Given the description of an element on the screen output the (x, y) to click on. 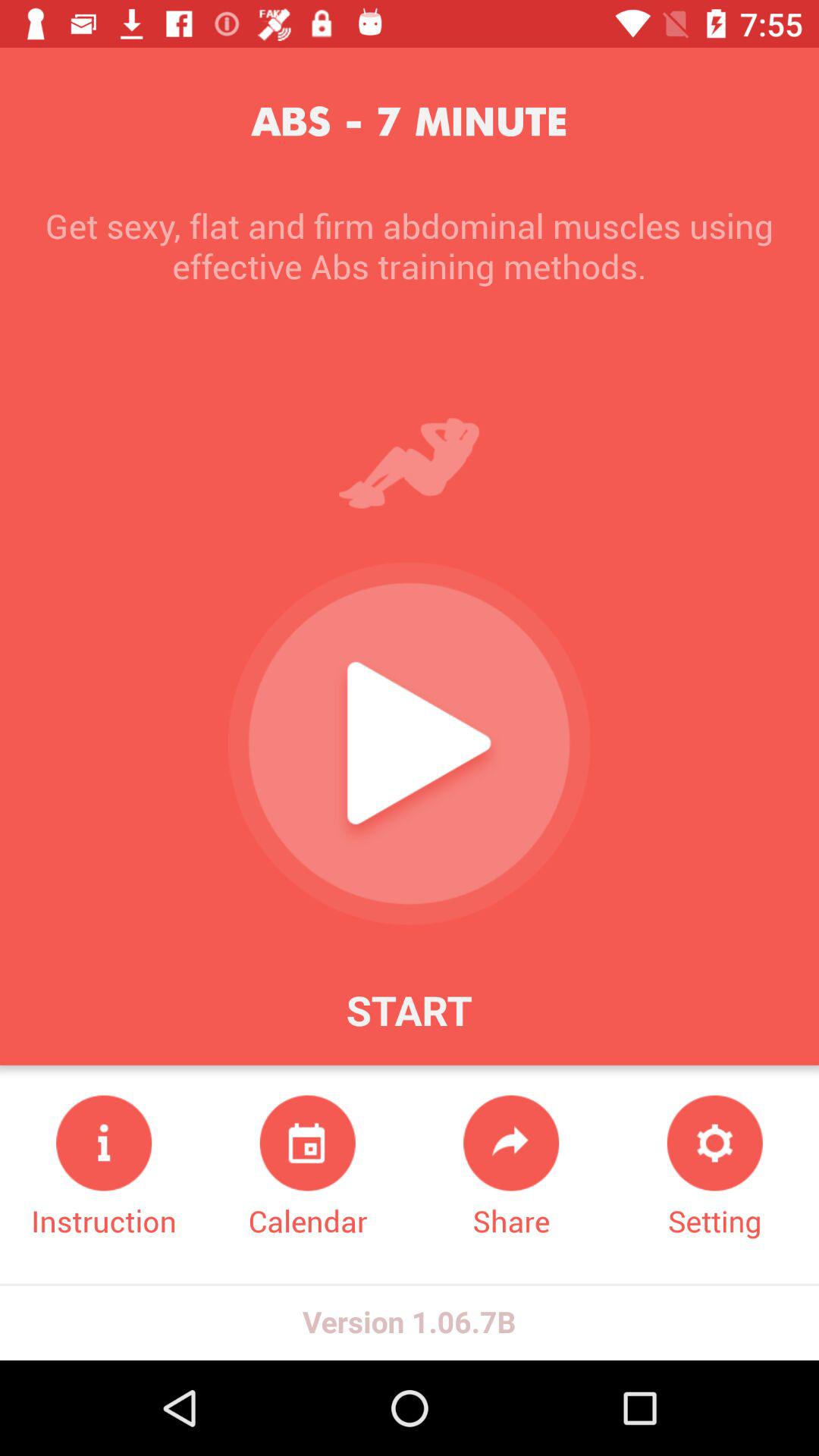
press calendar (307, 1168)
